Given the description of an element on the screen output the (x, y) to click on. 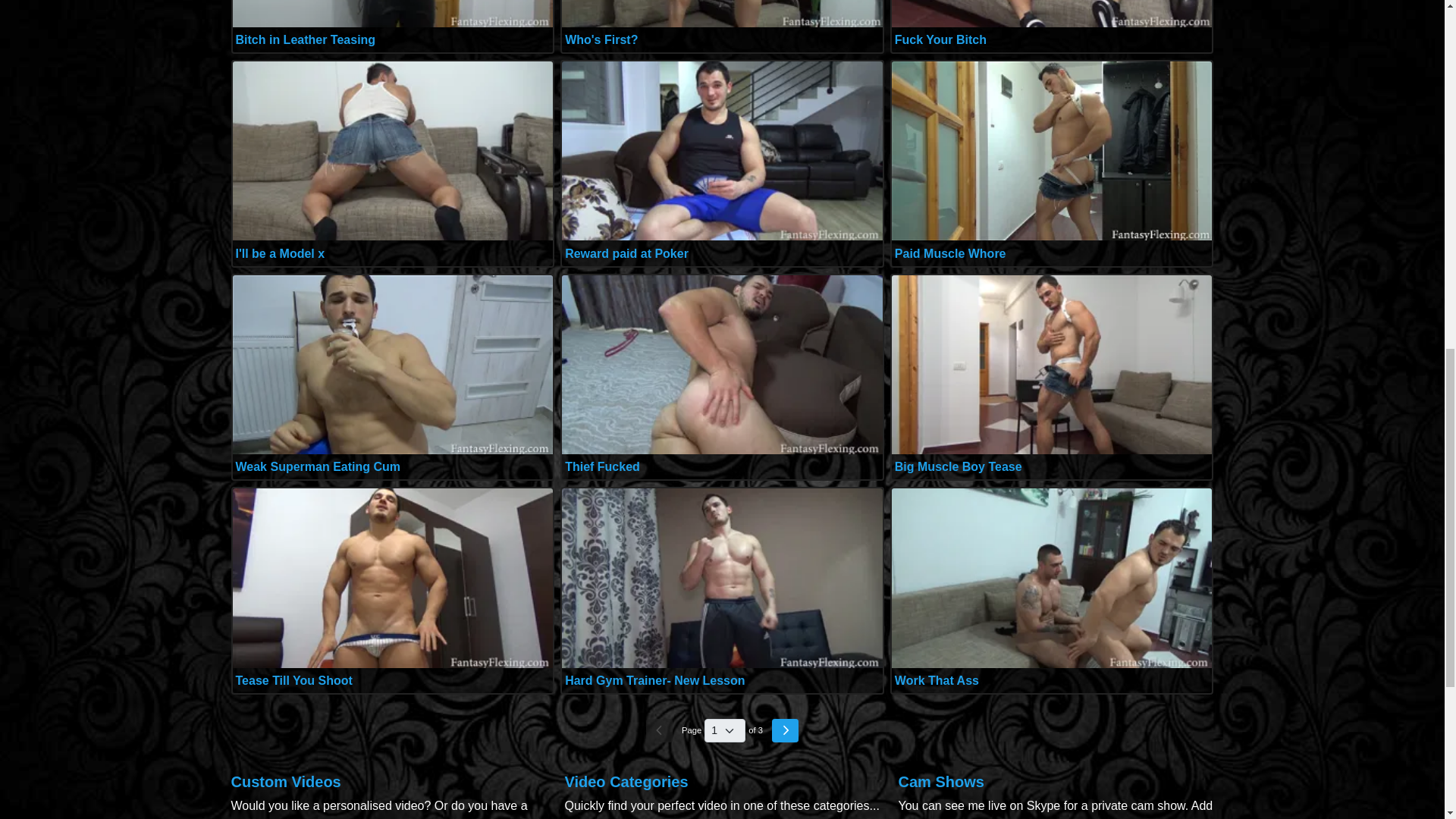
I'll be a Model x (279, 253)
Big Muscle Boy Tease (958, 466)
Who's First? (600, 39)
Reward paid at Poker (626, 253)
Bitch in Leather Teasing (304, 39)
Paid Muscle Whore (950, 253)
Weak Superman Eating Cum (317, 466)
Fuck Your Bitch (941, 39)
Tease Till You Shoot (293, 680)
Thief Fucked (602, 466)
